Given the description of an element on the screen output the (x, y) to click on. 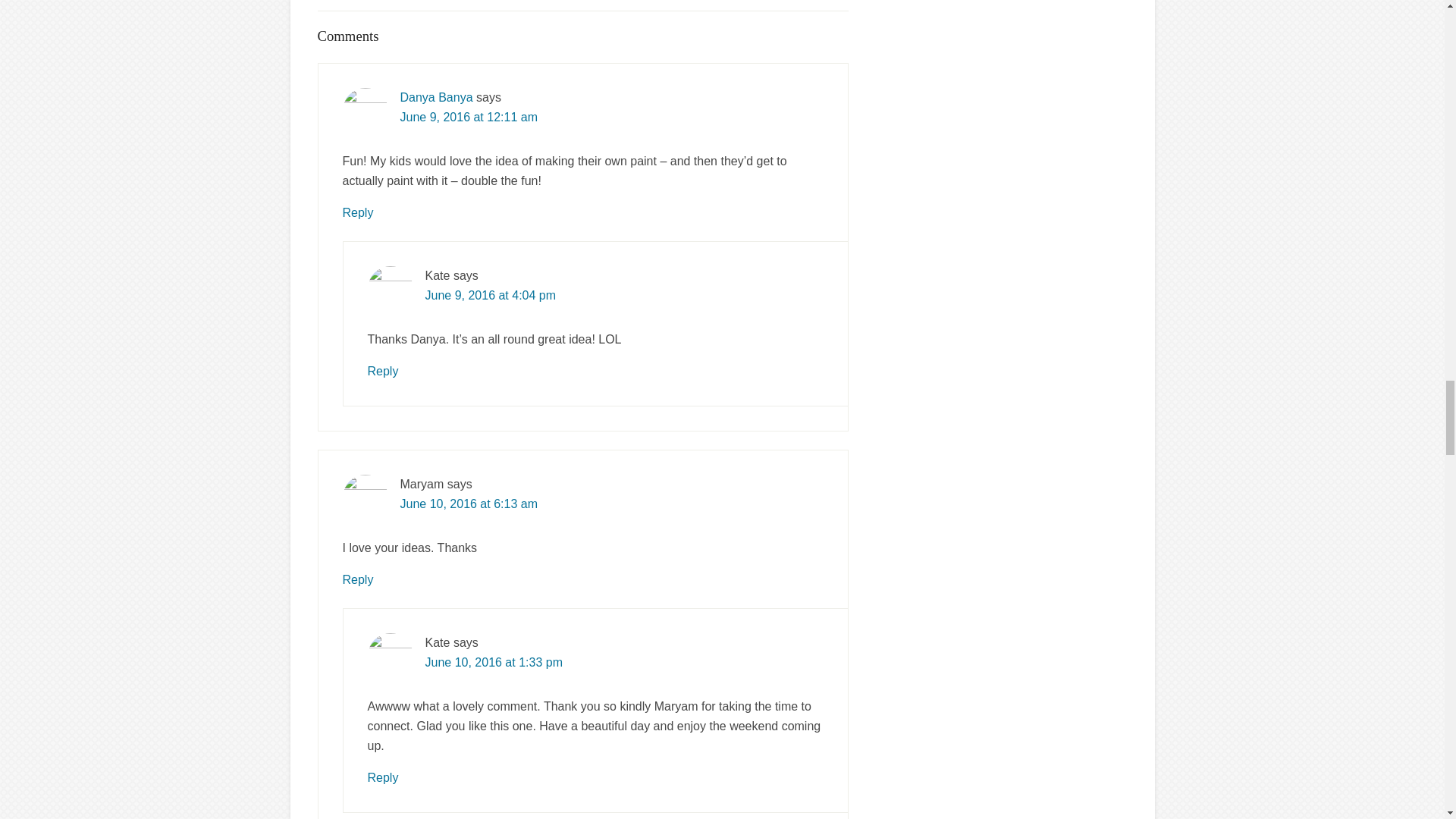
June 10, 2016 at 6:13 am (468, 503)
Reply (381, 370)
Reply (358, 212)
June 9, 2016 at 12:11 am (468, 116)
June 9, 2016 at 4:04 pm (490, 295)
Danya Banya (436, 97)
